Given the description of an element on the screen output the (x, y) to click on. 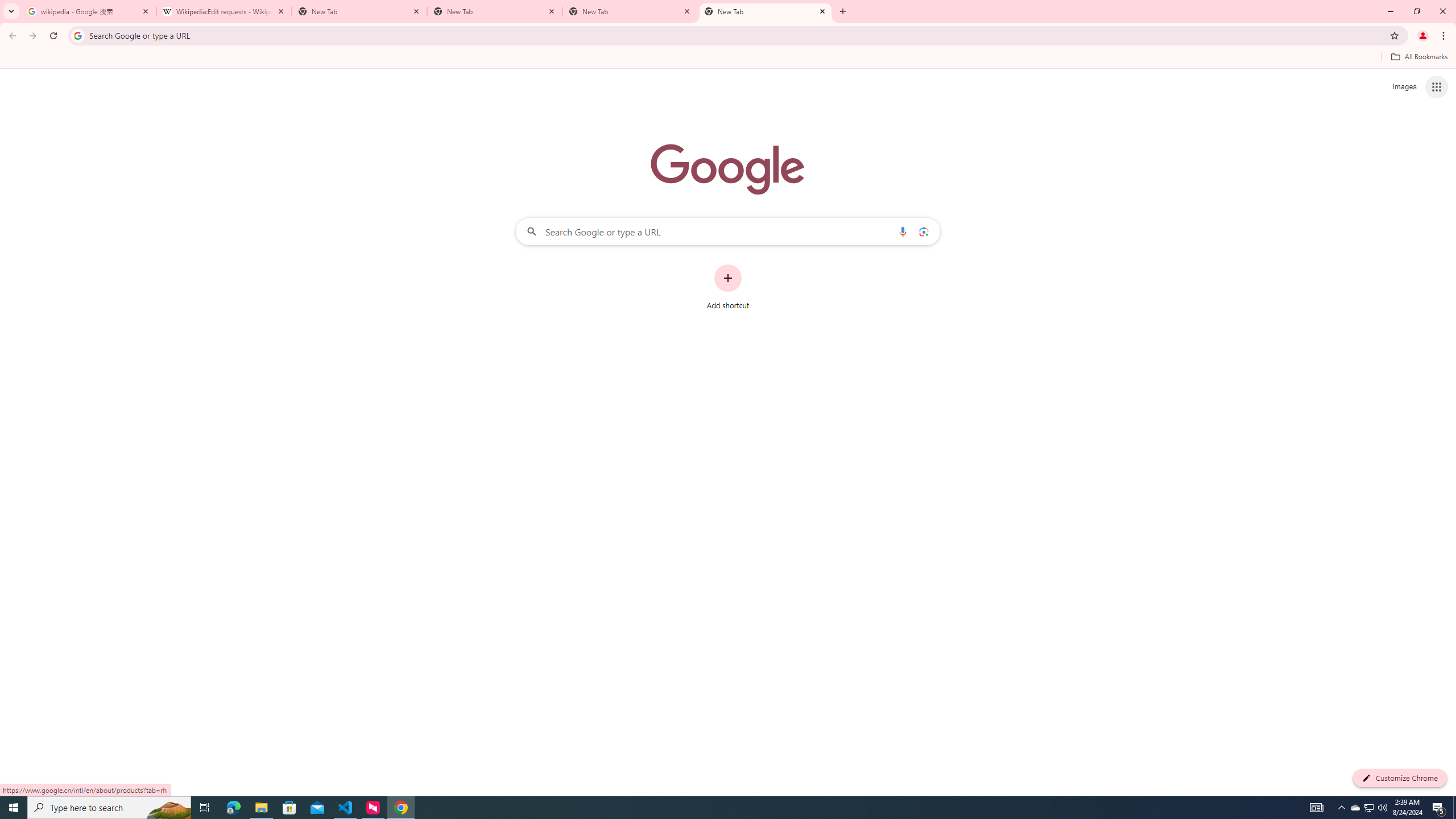
New Tab (765, 11)
Wikipedia:Edit requests - Wikipedia (224, 11)
New Tab (630, 11)
